Given the description of an element on the screen output the (x, y) to click on. 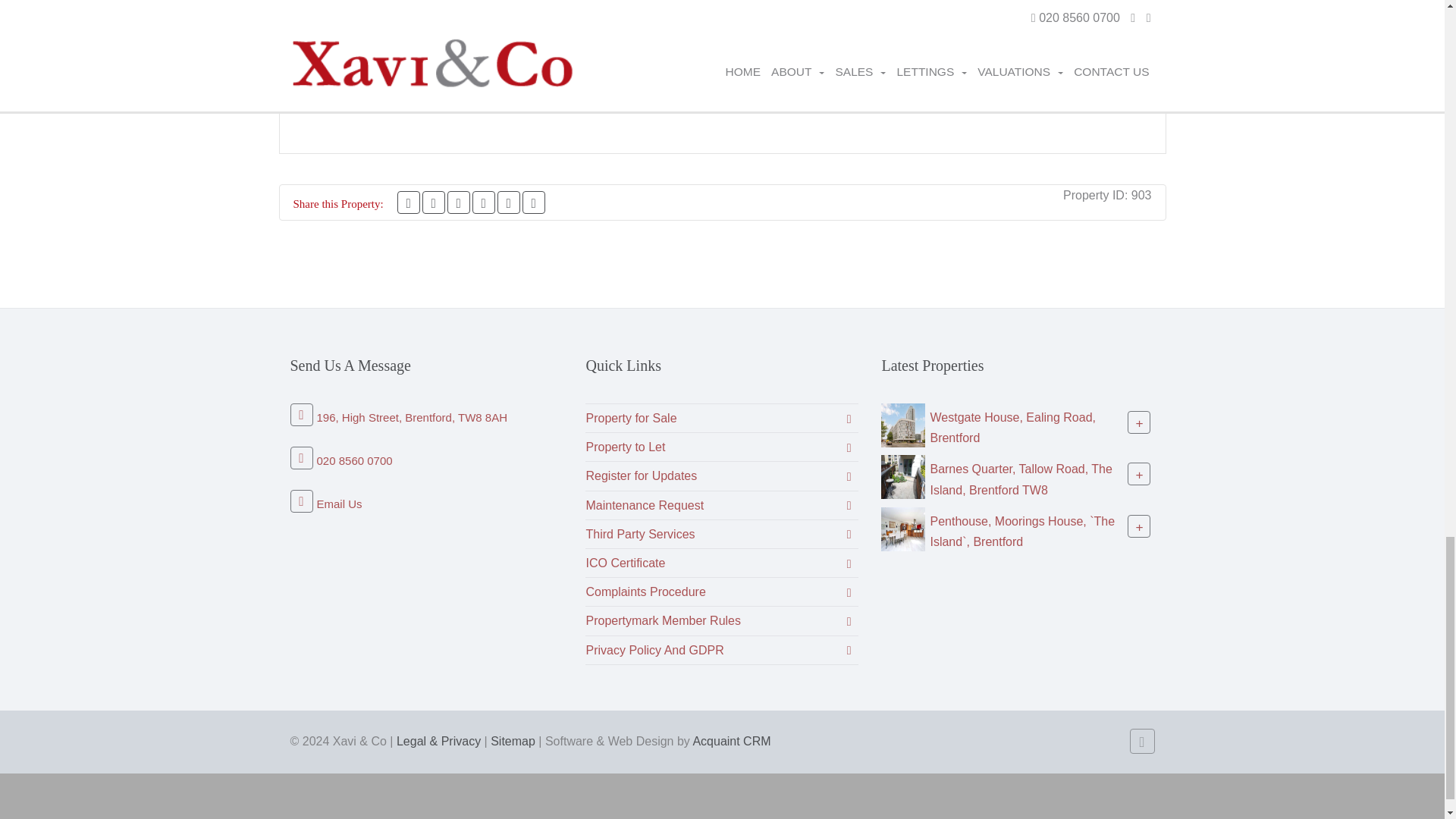
Property For Sale Barnes Quarter, Brentford (902, 476)
Property For Sale Westgate House, Ealing Road, Brentford (902, 423)
WhatsApp (483, 201)
Email (533, 201)
Twitter (433, 201)
SMS (508, 201)
Property For Sale Moorings House, Tallow Road, Brentford (902, 527)
Facebook (408, 201)
Pinterest (458, 201)
